Given the description of an element on the screen output the (x, y) to click on. 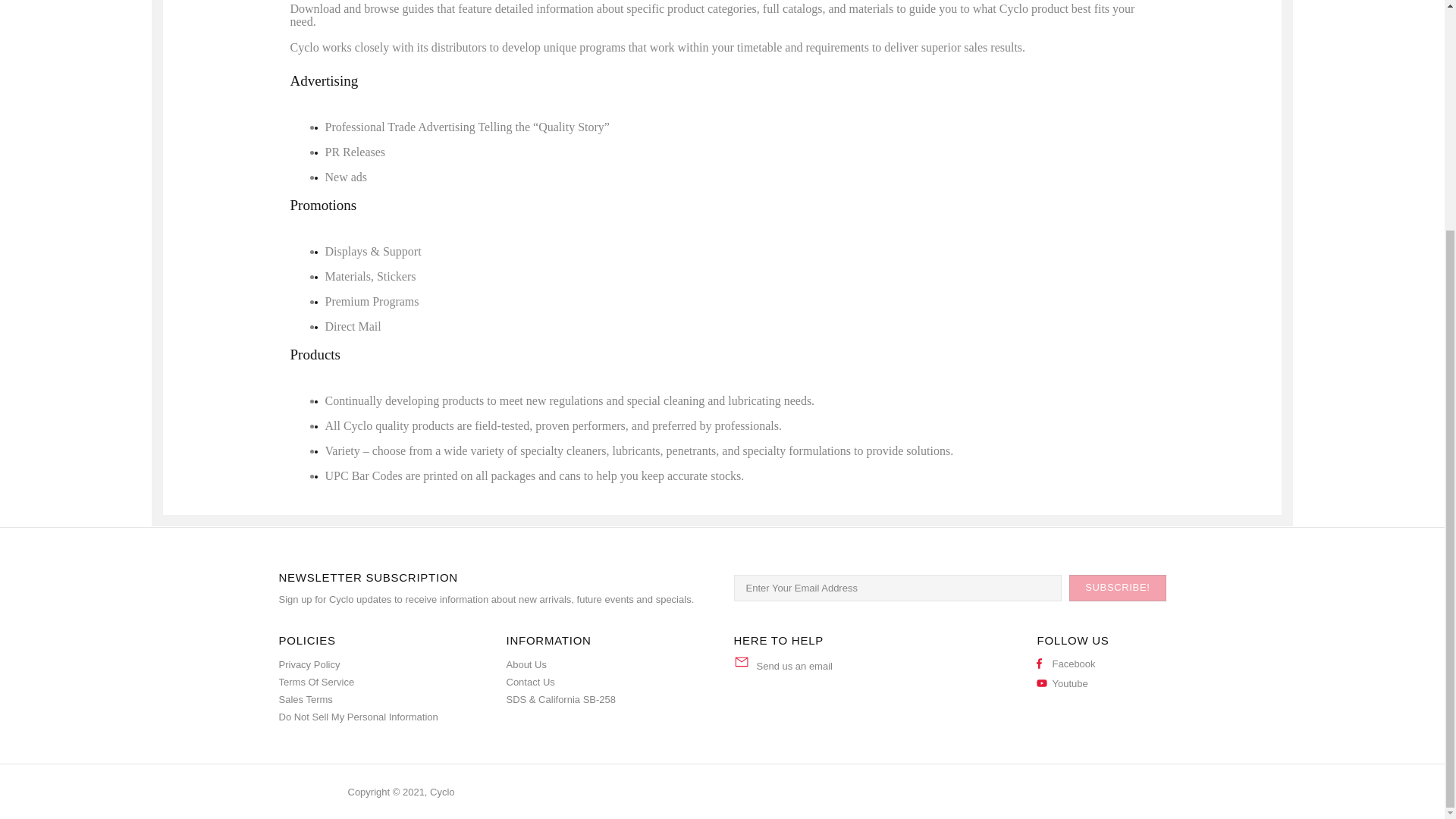
Privacy Policy (309, 664)
Terms Of Service (317, 681)
SUBSCRIBE! (1117, 587)
Sales Terms (306, 698)
Do Not Sell My Personal Information (358, 716)
About Us (526, 664)
Contact Us (530, 681)
SUBSCRIBE! (1117, 587)
email us (794, 666)
Send us an email (794, 666)
